Given the description of an element on the screen output the (x, y) to click on. 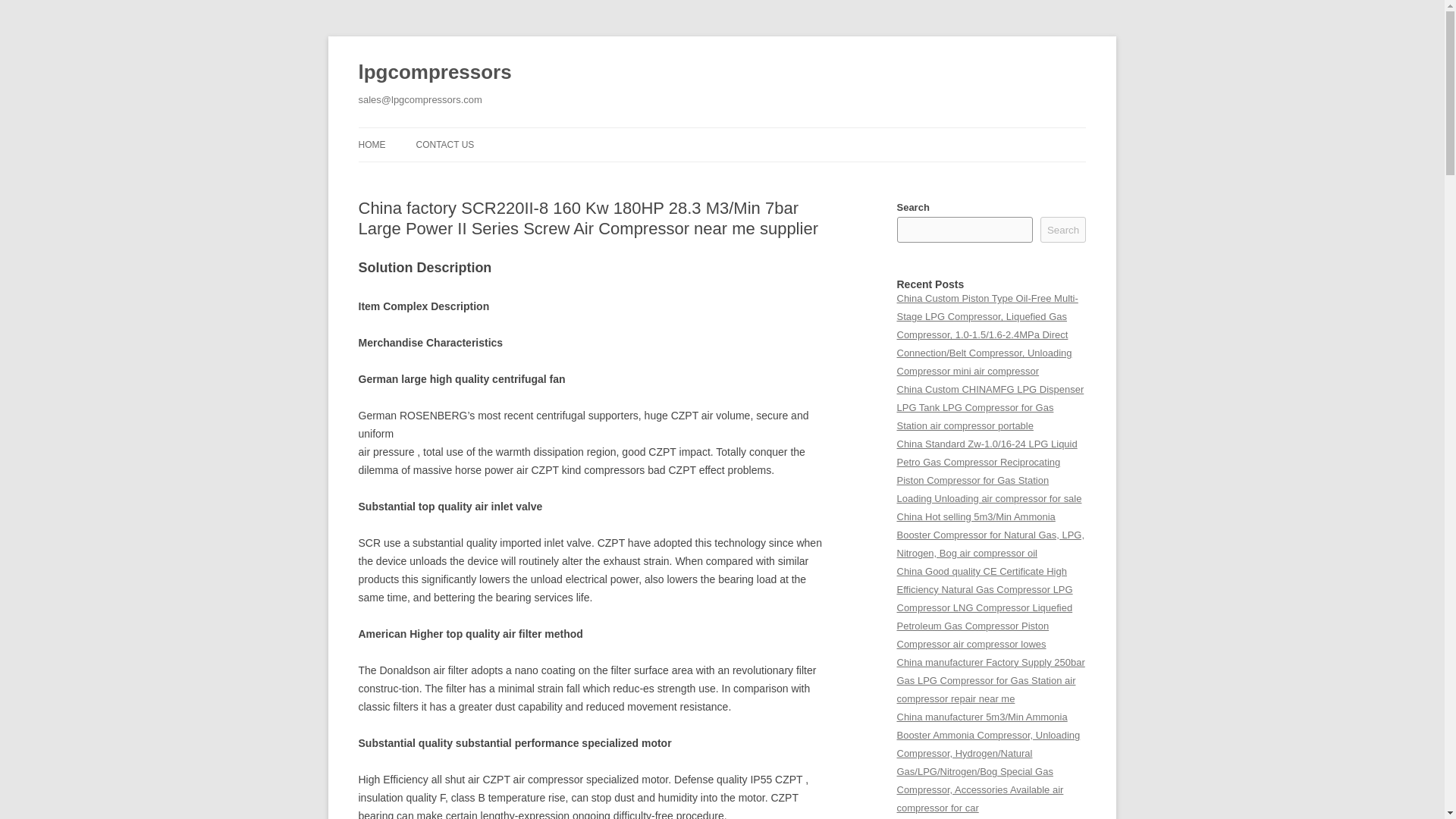
lpgcompressors (434, 72)
CONTACT US (444, 144)
Search (1063, 229)
